Given the description of an element on the screen output the (x, y) to click on. 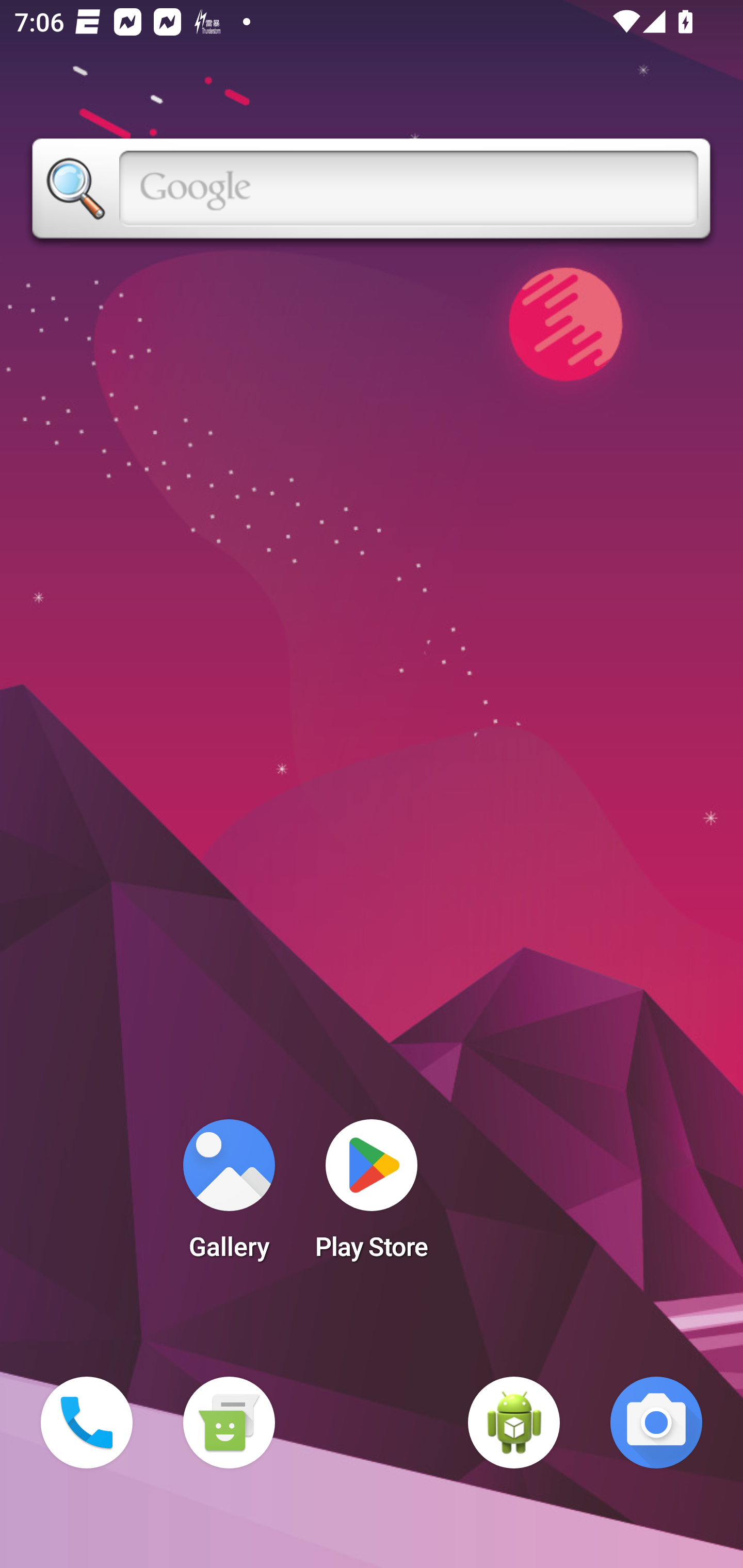
Gallery (228, 1195)
Play Store (371, 1195)
Phone (86, 1422)
Messaging (228, 1422)
WebView Browser Tester (513, 1422)
Camera (656, 1422)
